Given the description of an element on the screen output the (x, y) to click on. 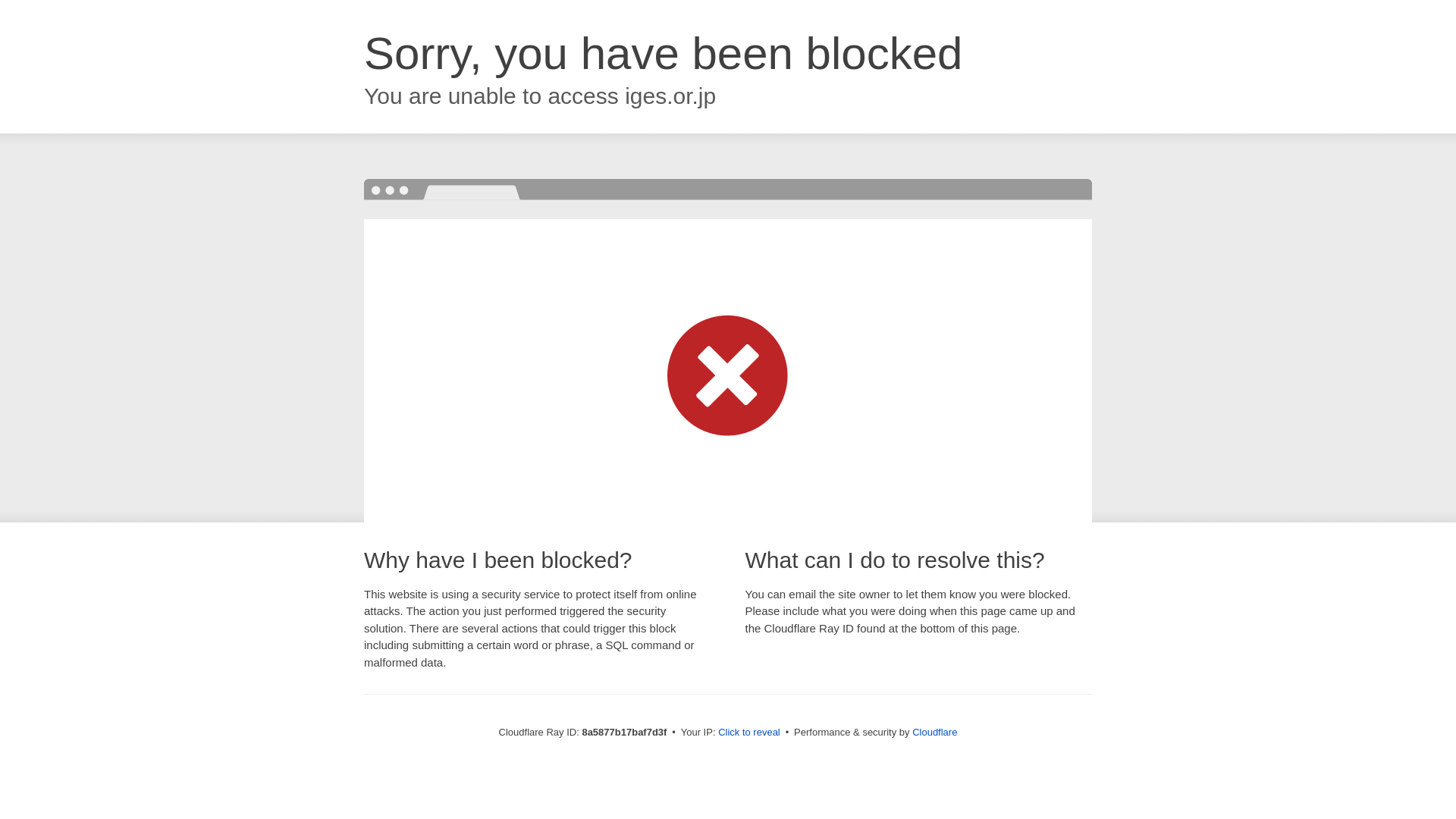
Cloudflare (934, 731)
Click to reveal (748, 732)
